Given the description of an element on the screen output the (x, y) to click on. 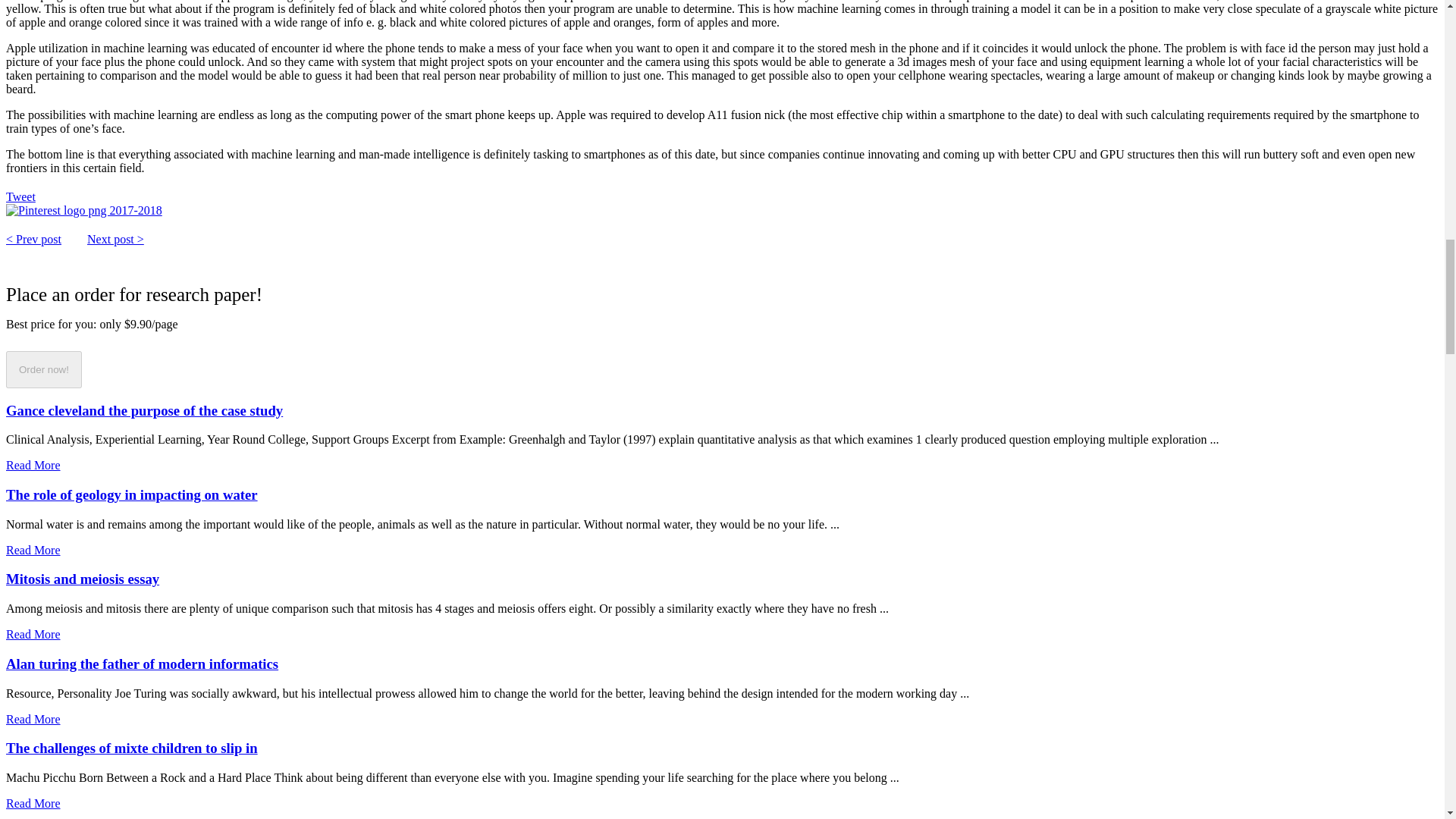
Read More (33, 802)
Read More (33, 718)
Read More (33, 549)
Tweet (19, 196)
Order now! (43, 369)
Read More (33, 464)
Read More (33, 634)
